Given the description of an element on the screen output the (x, y) to click on. 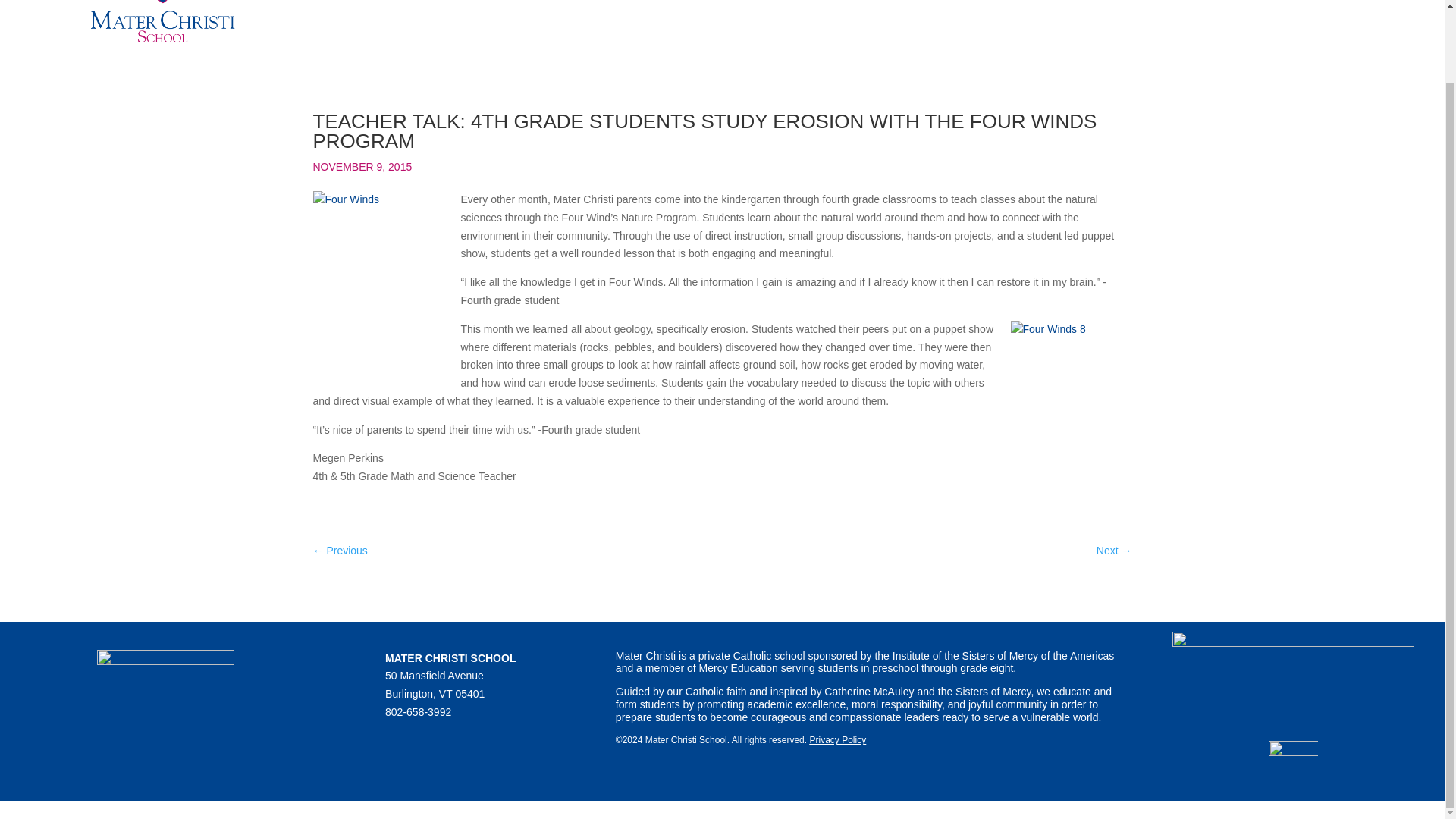
neasc-logo-web (1292, 765)
Follow on  (397, 742)
logo-mater-christi-white-2x (164, 683)
Follow on  (457, 742)
Follow on  (488, 742)
Follow on  (426, 742)
